Given the description of an element on the screen output the (x, y) to click on. 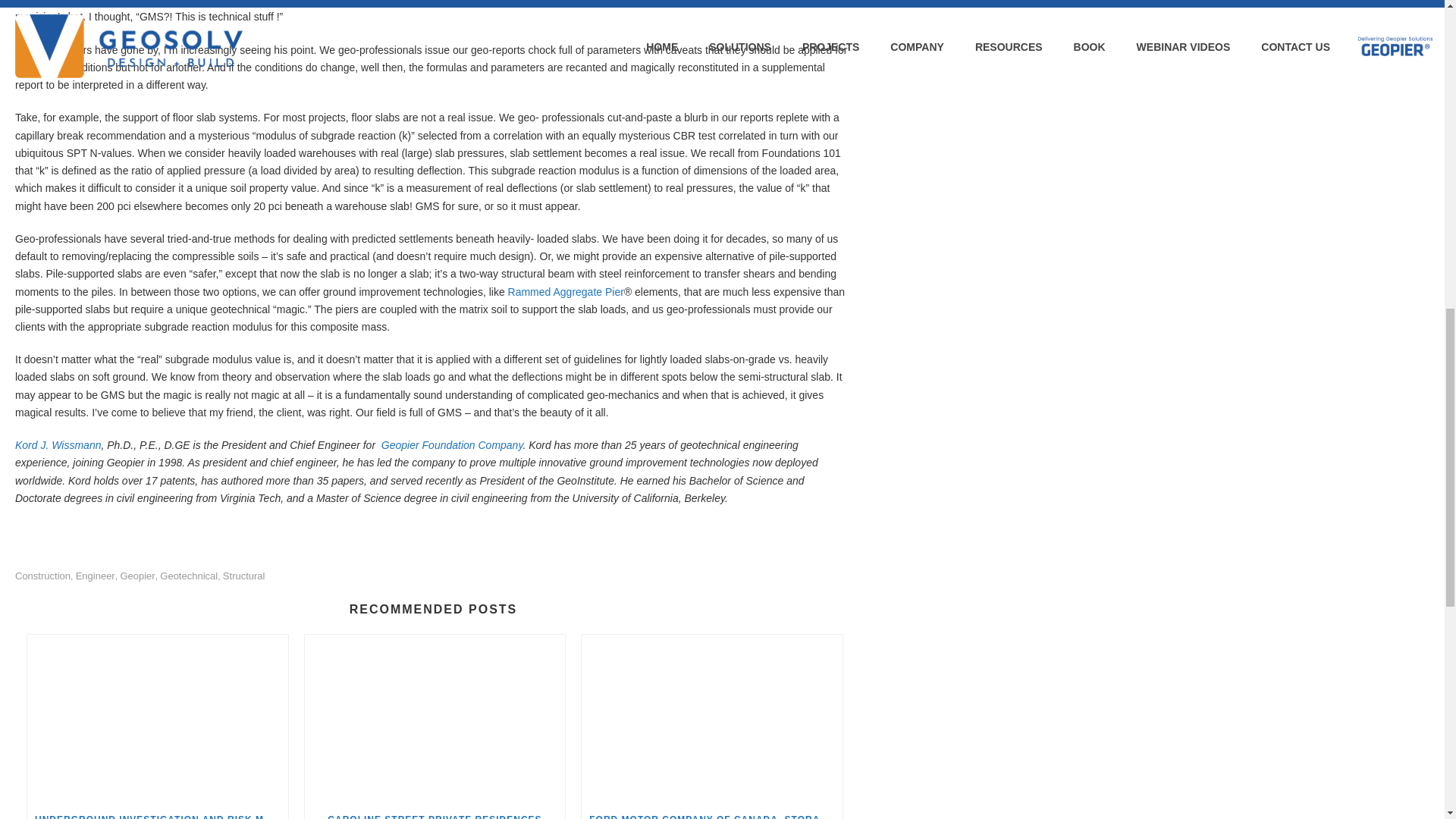
Ford Motor Company of Canada, Storage Tanks (711, 717)
Caroline Street Private Residences (435, 717)
